Given the description of an element on the screen output the (x, y) to click on. 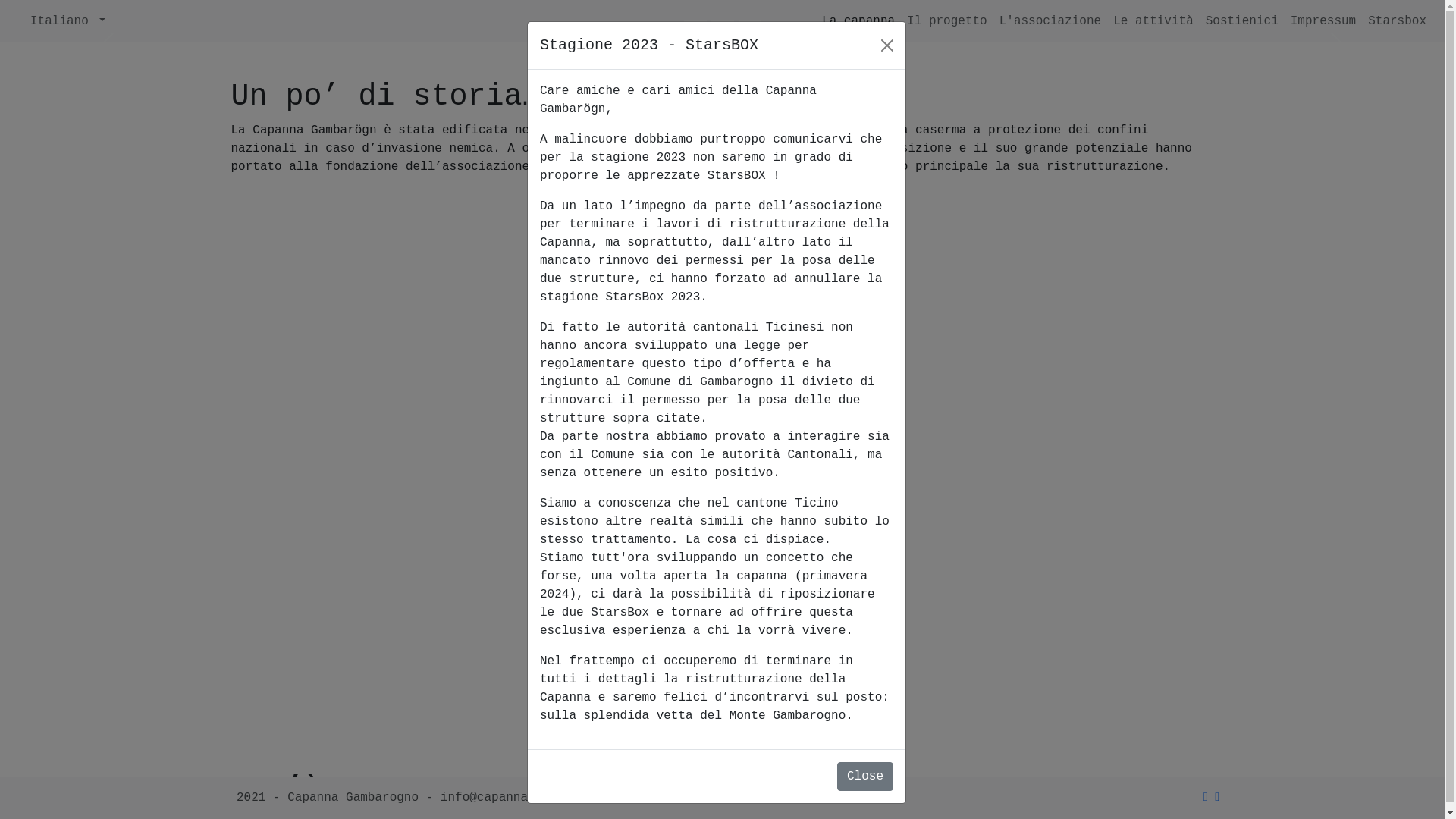
L'associazione Element type: text (1050, 21)
Close Element type: text (865, 776)
La capanna Element type: text (857, 21)
Il progetto Element type: text (946, 21)
Impressum Element type: text (1322, 21)
Sostienici Element type: text (1241, 21)
Starsbox Element type: text (1396, 21)
Italiano Element type: text (67, 21)
